Given the description of an element on the screen output the (x, y) to click on. 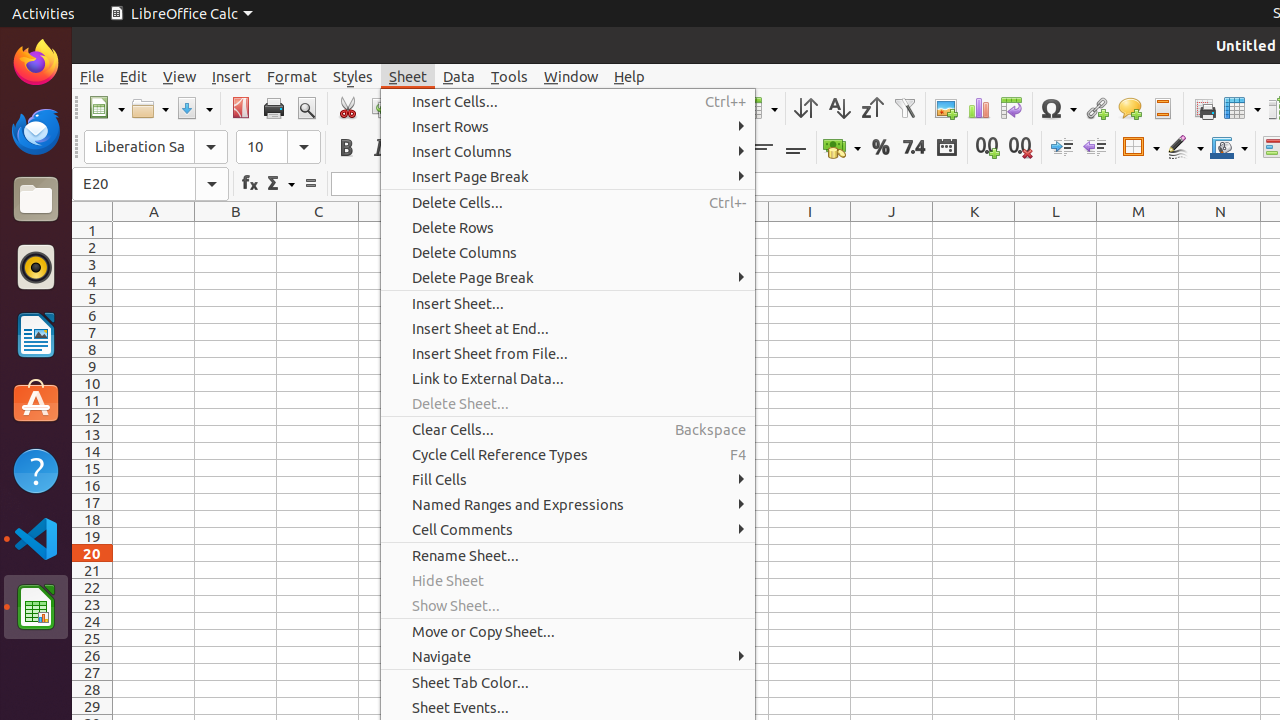
Currency Element type: push-button (842, 147)
LibreOffice Writer Element type: push-button (36, 334)
Percent Element type: push-button (880, 147)
Align Bottom Element type: push-button (795, 147)
Sort Ascending Element type: push-button (838, 108)
